Given the description of an element on the screen output the (x, y) to click on. 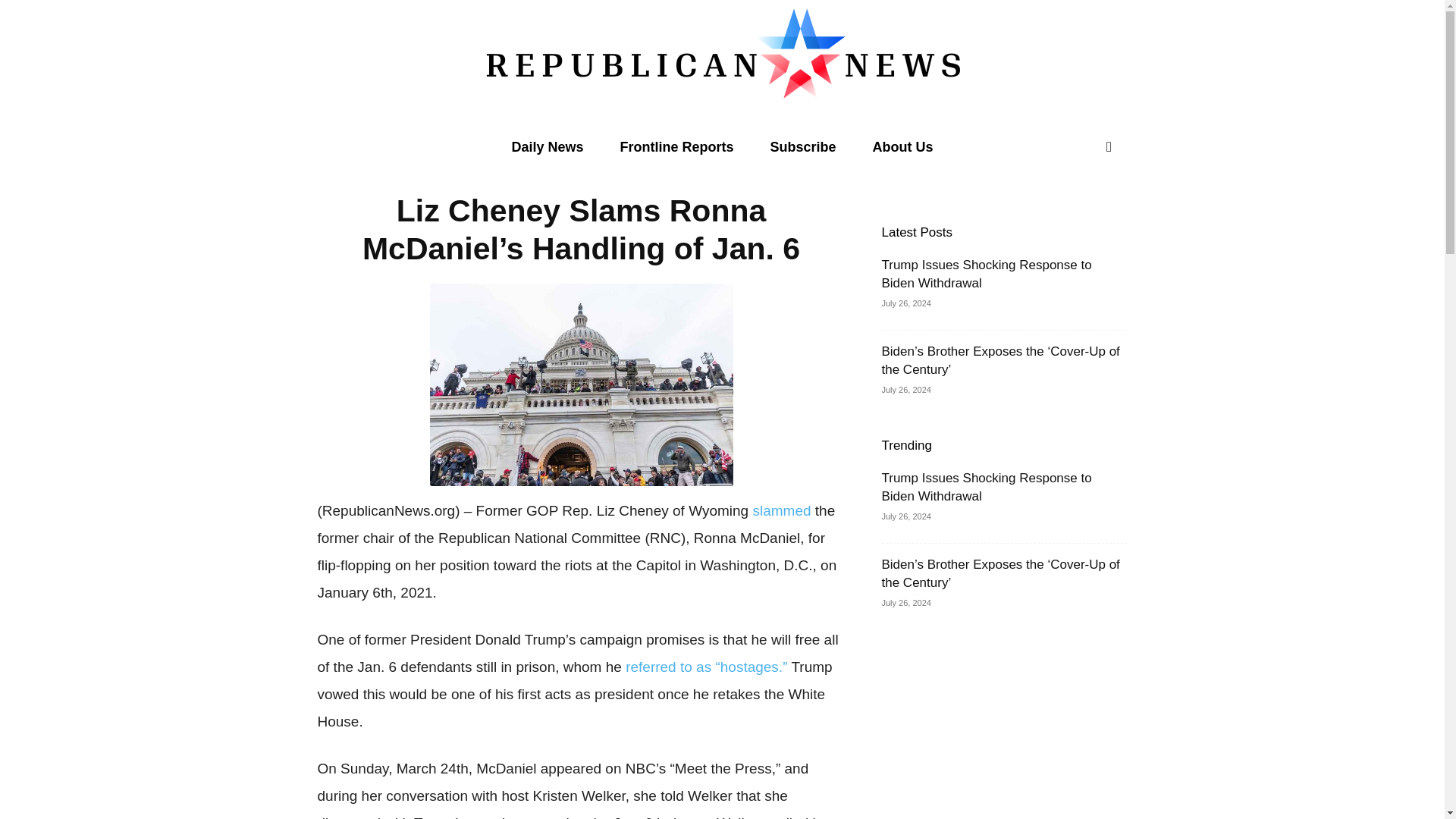
Trump Issues Shocking Response to Biden Withdrawal (985, 486)
Trump Issues Shocking Response to Biden Withdrawal (985, 273)
About Us (903, 146)
slammed (781, 510)
Subscribe (803, 146)
Search (1077, 207)
Daily News (547, 146)
Frontline Reports (677, 146)
